Given the description of an element on the screen output the (x, y) to click on. 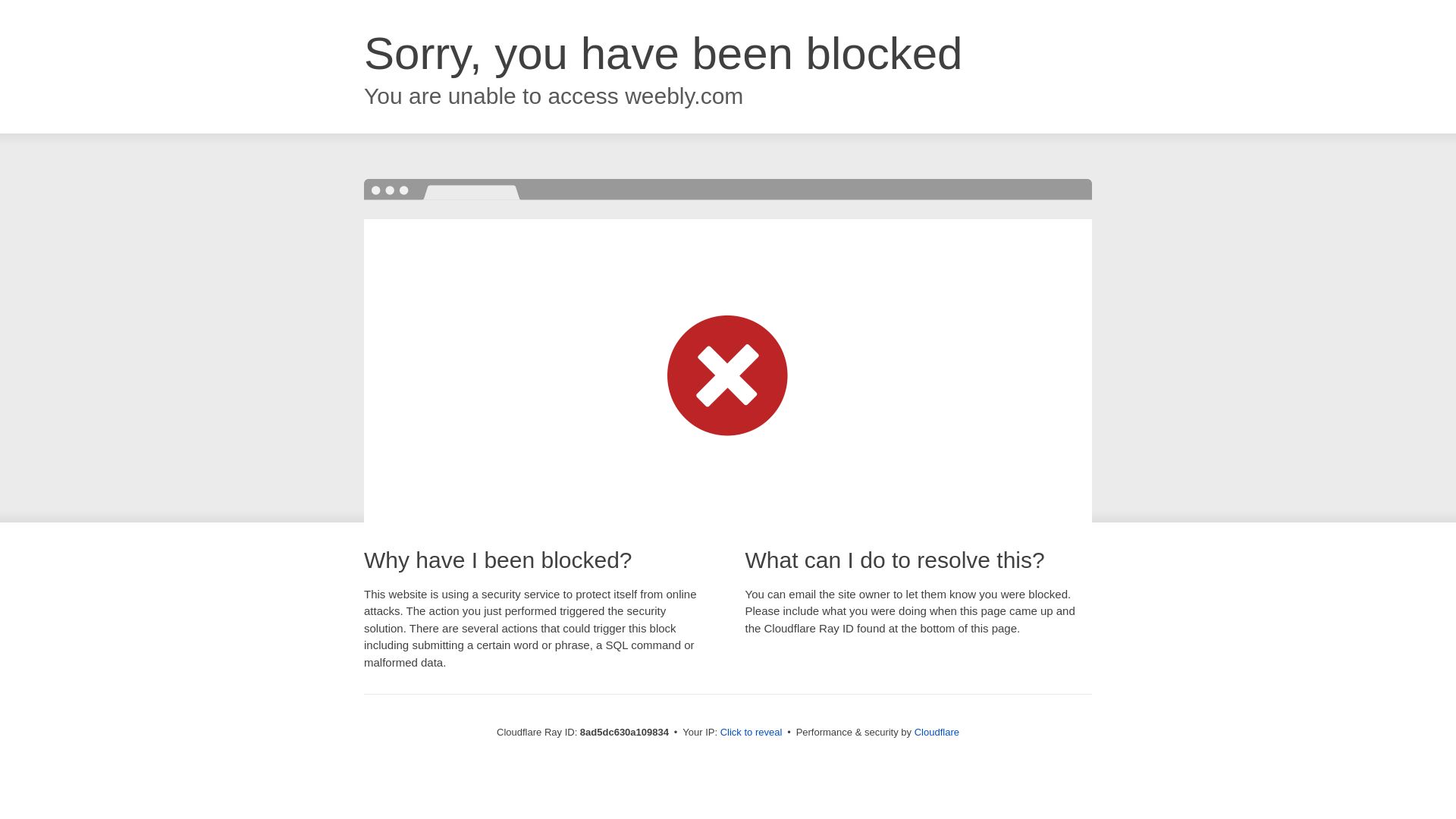
Cloudflare (936, 731)
Click to reveal (751, 732)
